Given the description of an element on the screen output the (x, y) to click on. 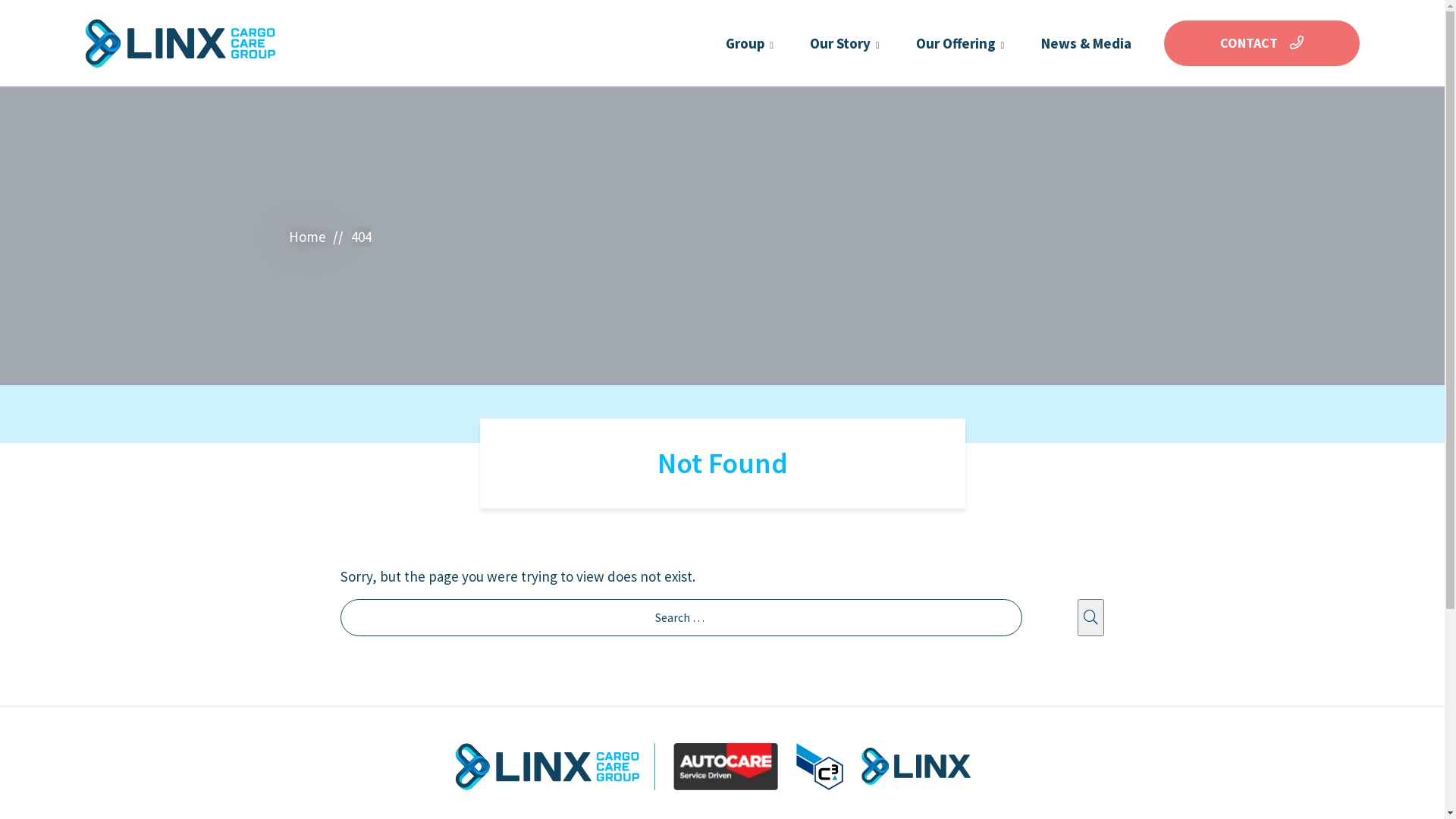
Search Element type: hover (1090, 617)
Our Story Element type: text (842, 43)
News & Media Element type: text (1083, 43)
CONTACT     Element type: text (1260, 42)
Our Offering Element type: text (957, 43)
Group Element type: text (747, 43)
Home Element type: text (306, 236)
